Given the description of an element on the screen output the (x, y) to click on. 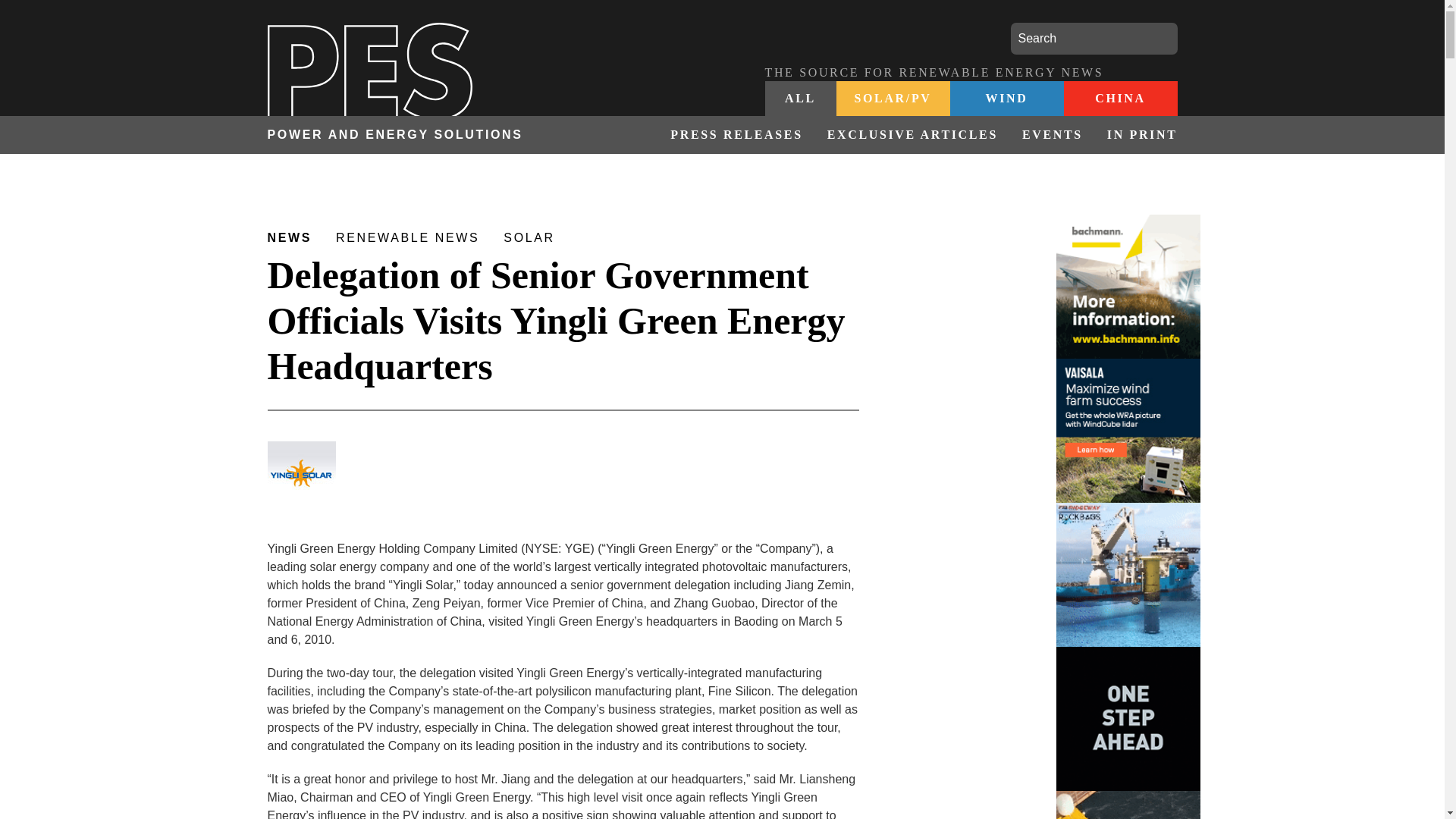
EXCLUSIVE ARTICLES (912, 134)
PRESS RELEASES (735, 134)
ALL (799, 98)
IN PRINT (1135, 134)
Search for: (1093, 38)
CHINA (1119, 98)
EVENTS (1052, 134)
WIND (1005, 98)
